Given the description of an element on the screen output the (x, y) to click on. 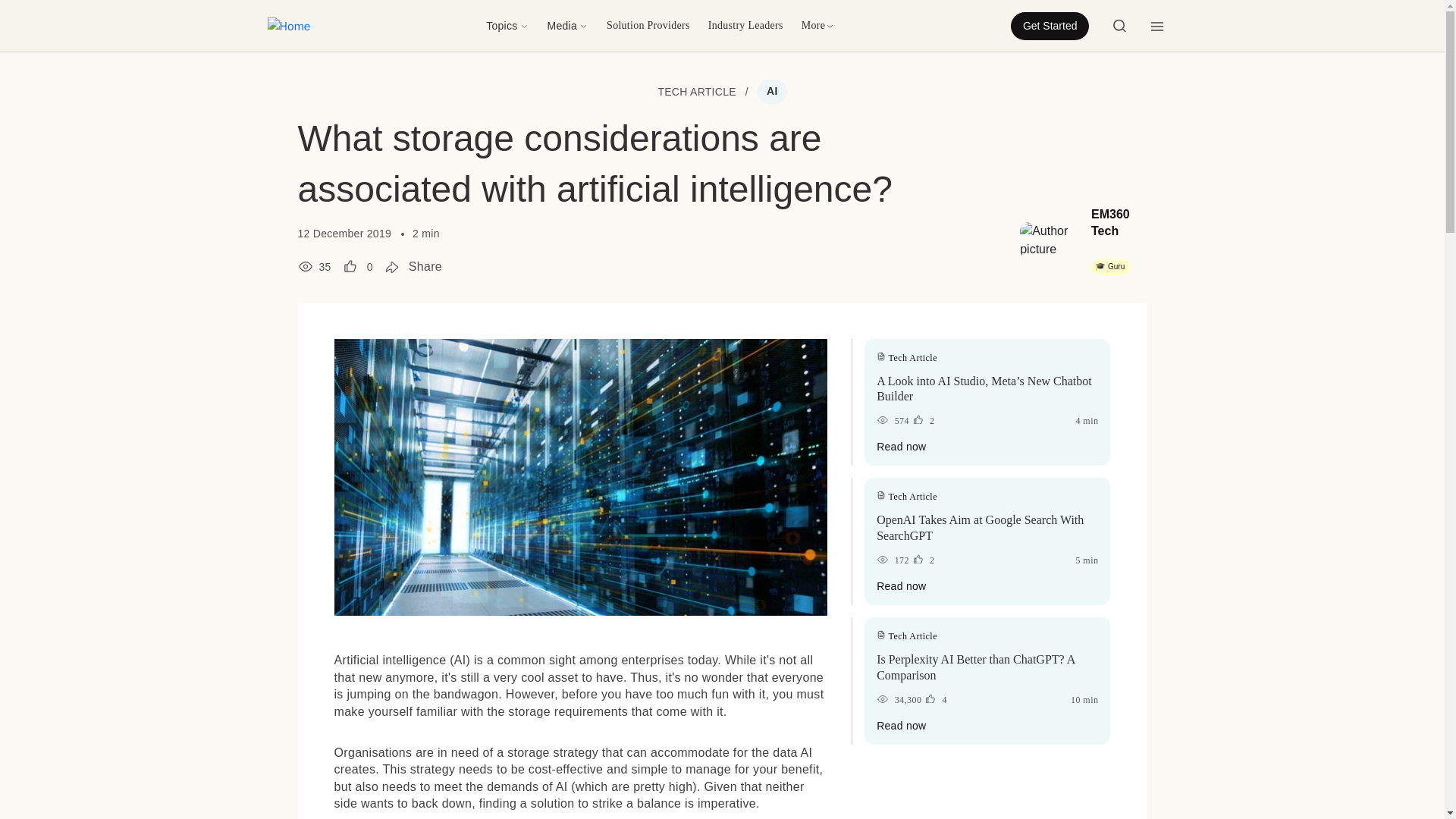
Home (288, 25)
Skip to main content (60, 11)
